Given the description of an element on the screen output the (x, y) to click on. 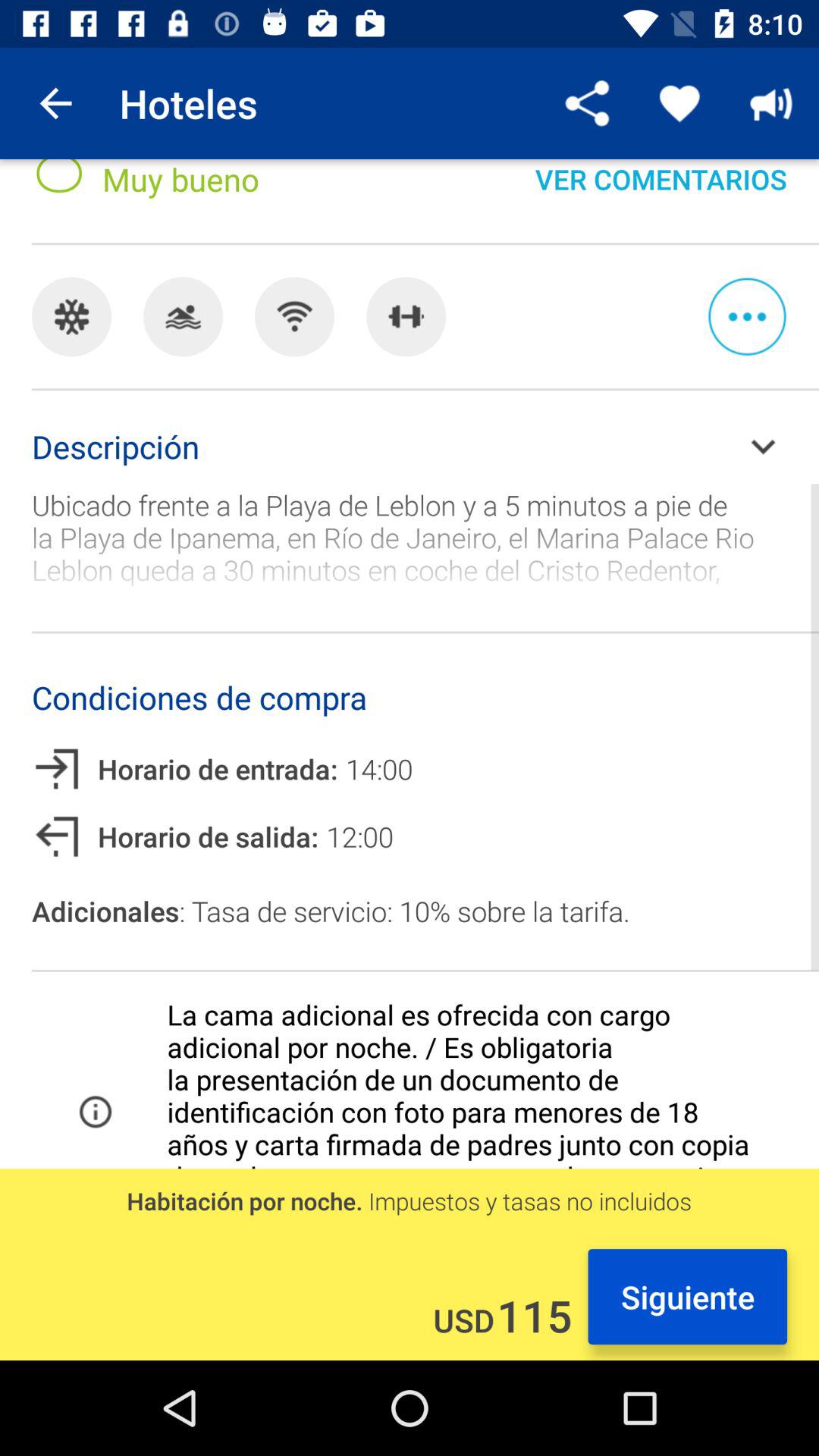
tap the icon next to the muy bueno (587, 103)
